Given the description of an element on the screen output the (x, y) to click on. 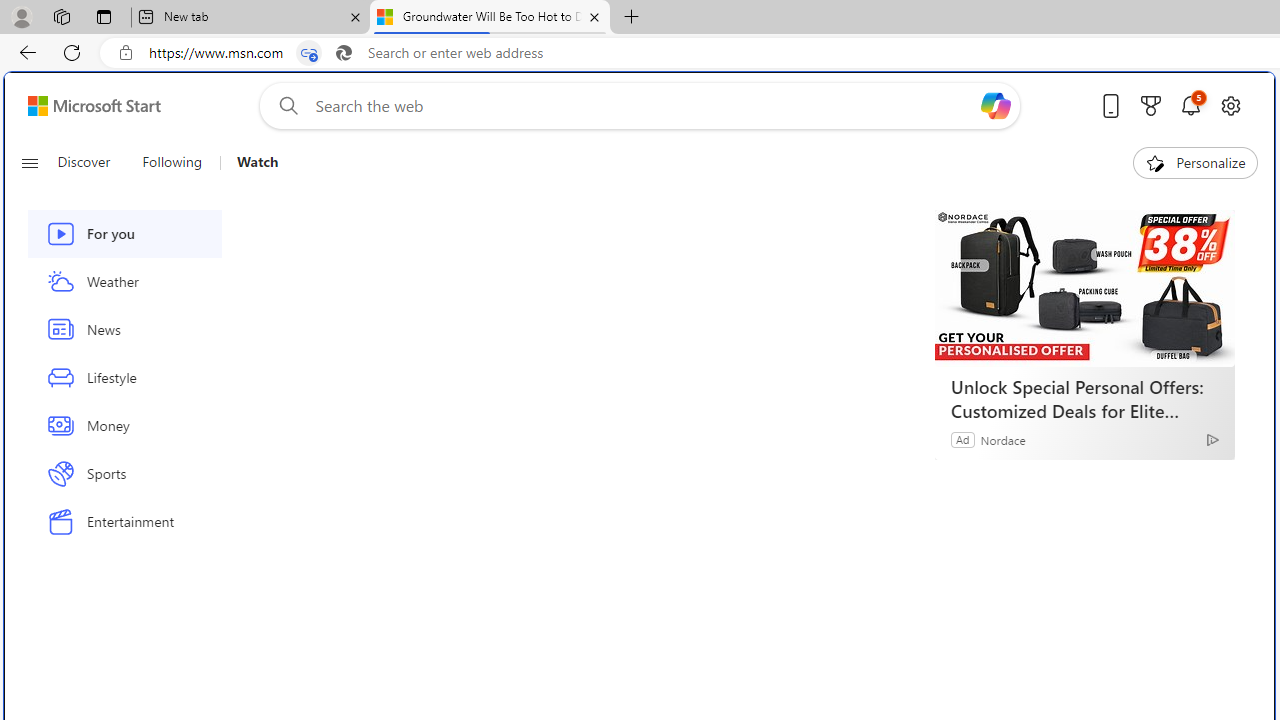
Microsoft rewards (1151, 105)
Enter your search term (644, 106)
